Given the description of an element on the screen output the (x, y) to click on. 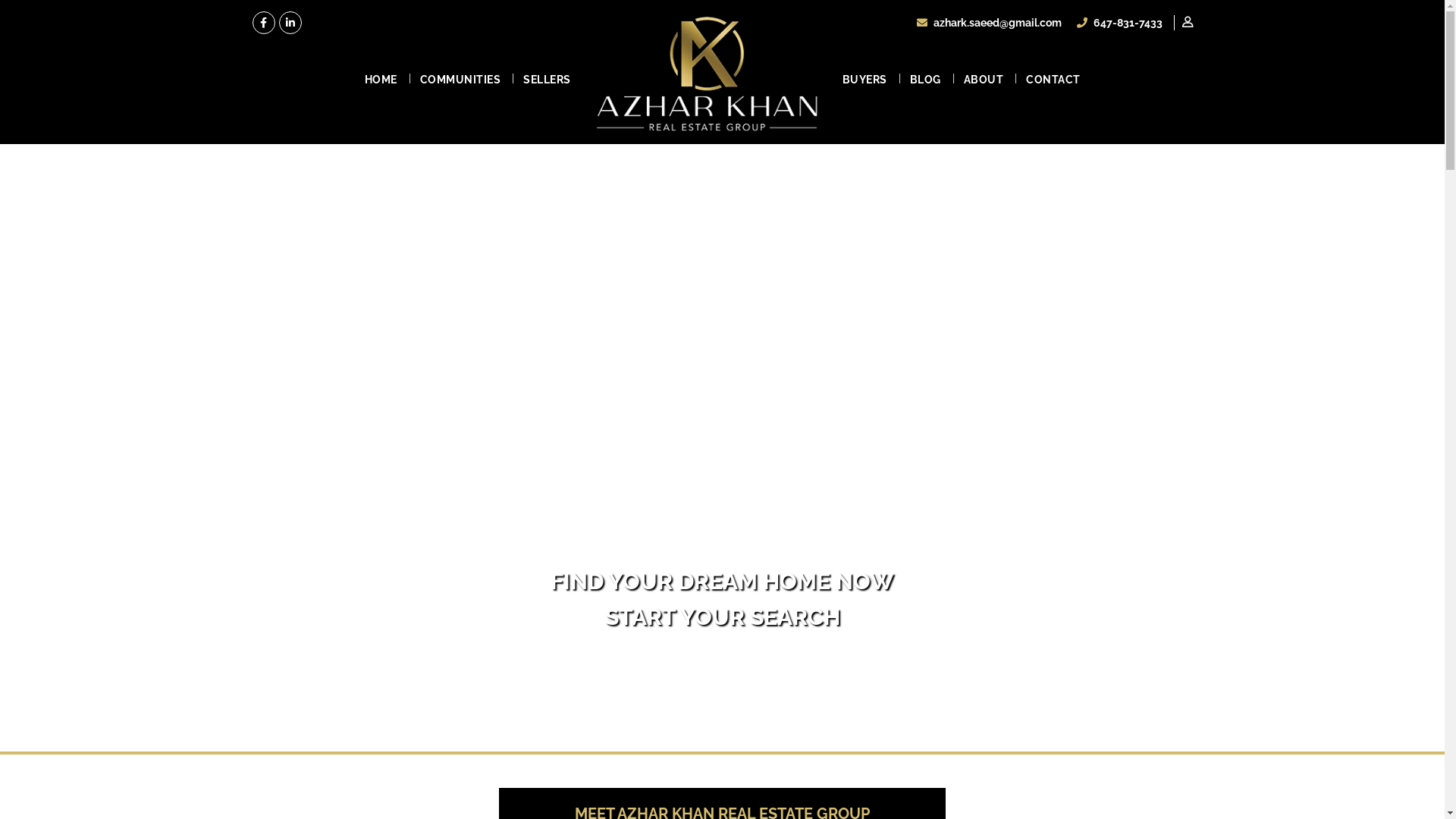
ABOUT Element type: text (983, 79)
azhark.saeed@gmail.com Element type: text (988, 22)
647-831-7433 Element type: text (1119, 22)
BLOG Element type: text (924, 79)
CONTACT Element type: text (1053, 79)
BUYERS Element type: text (864, 79)
HOME Element type: text (380, 79)
SELLERS Element type: text (546, 79)
COMMUNITIES Element type: text (459, 79)
